Given the description of an element on the screen output the (x, y) to click on. 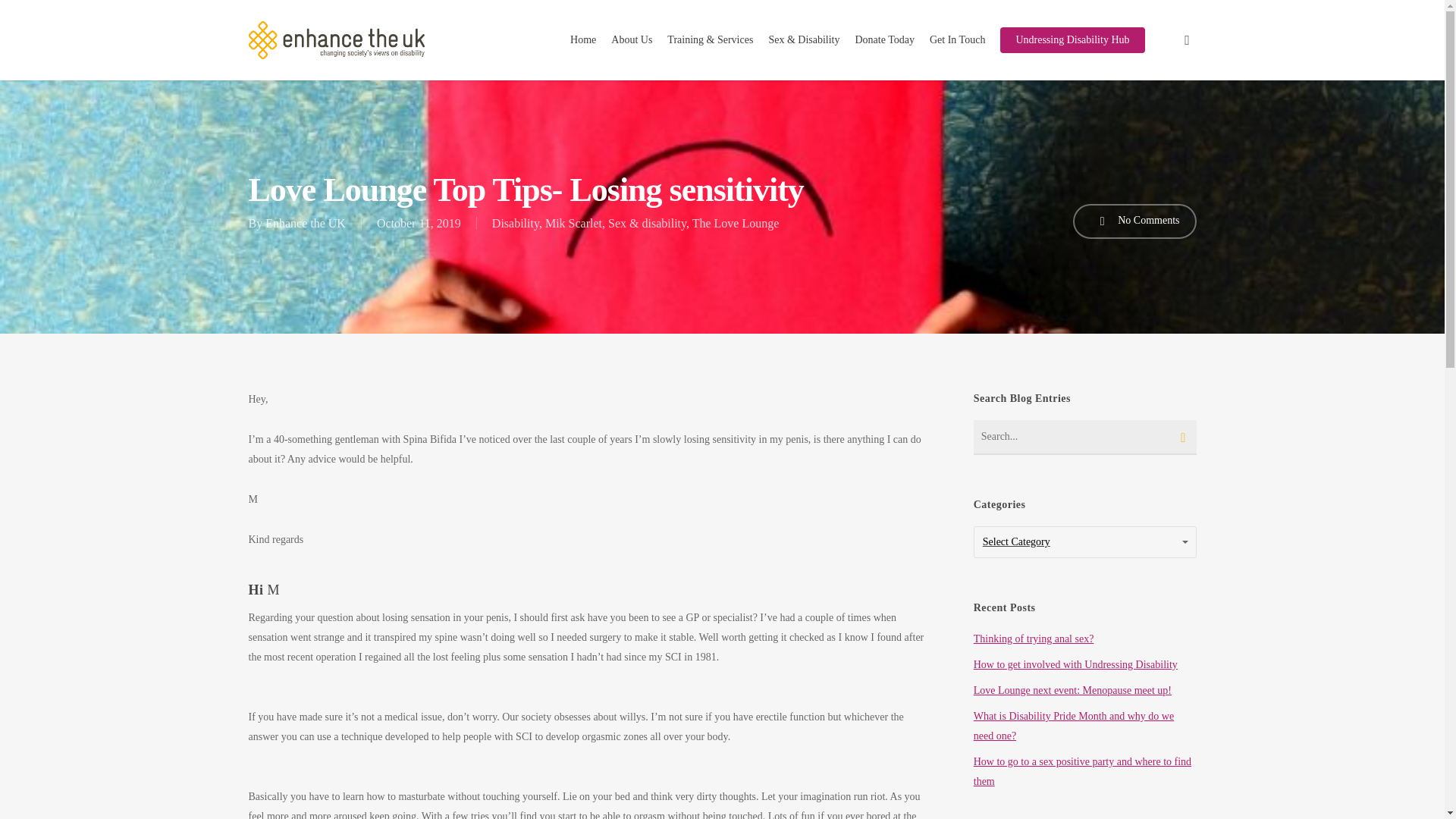
Disability (515, 223)
Undressing Disability Hub (1072, 39)
Donate Today (884, 39)
search (1186, 39)
About Us (631, 39)
Home (583, 39)
Get In Touch (956, 39)
Enhance the UK (305, 223)
Mik Scarlet (573, 223)
